Given the description of an element on the screen output the (x, y) to click on. 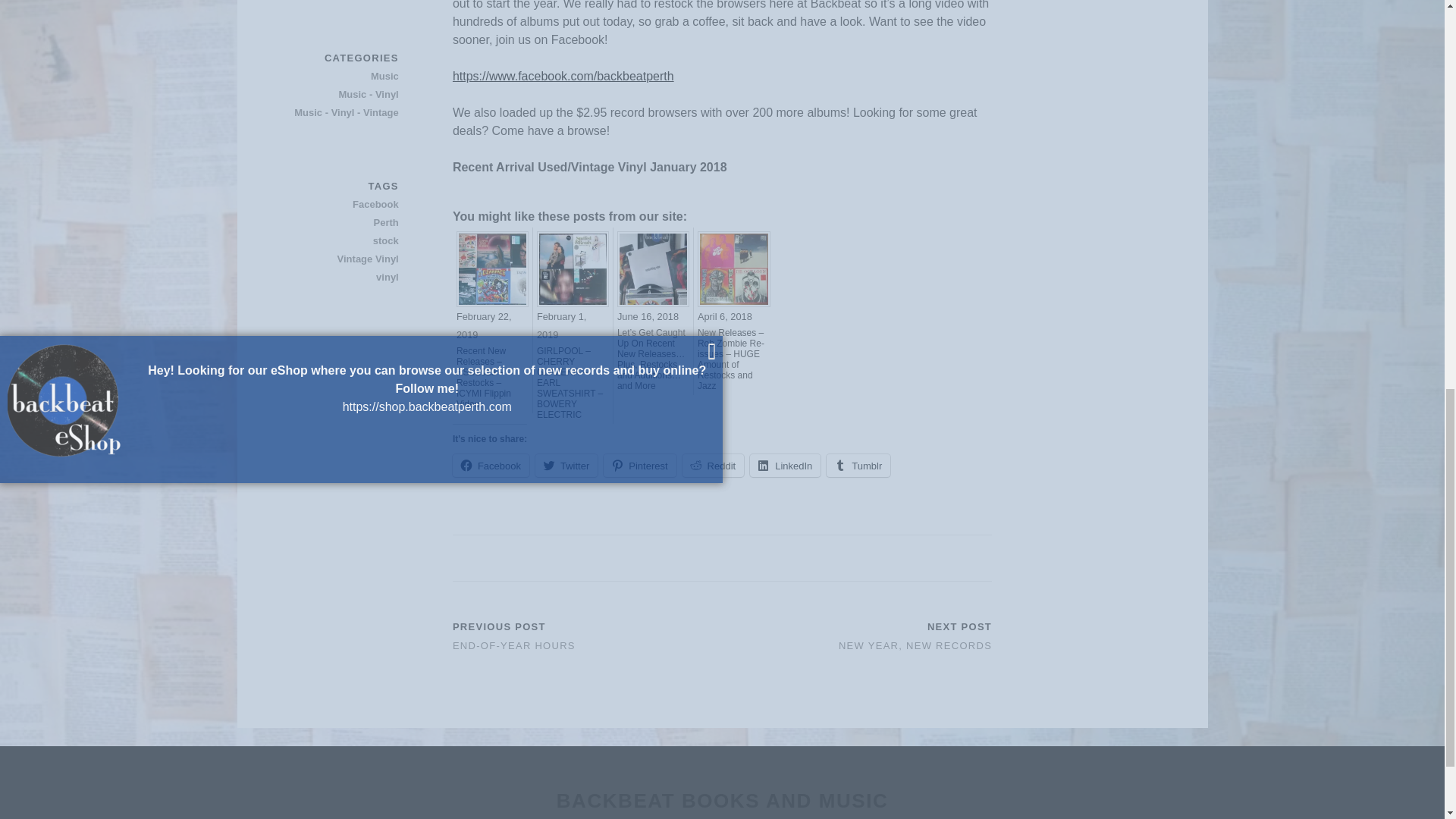
View all posts in Music - Vinyl (344, 94)
View all posts tagged Perth (344, 222)
View all posts in Music (344, 76)
Click to share on Pinterest (639, 465)
END-OF-YEAR HOURS (513, 645)
Tumblr (858, 465)
View all posts tagged stock (344, 240)
Twitter (565, 465)
LinkedIn (785, 465)
View all posts tagged Vintage Vinyl (344, 259)
